Given the description of an element on the screen output the (x, y) to click on. 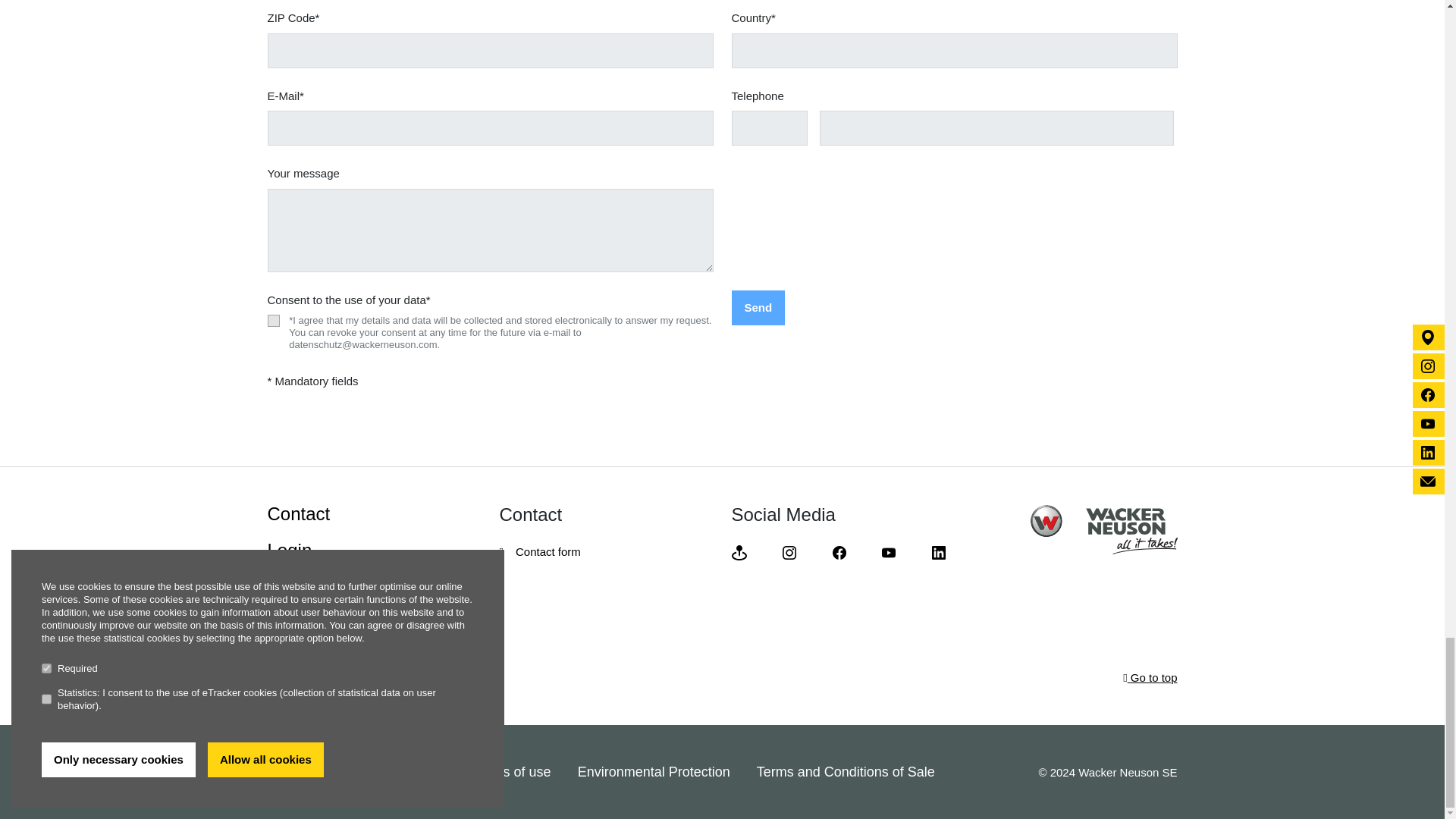
Go to top (1149, 677)
